Given the description of an element on the screen output the (x, y) to click on. 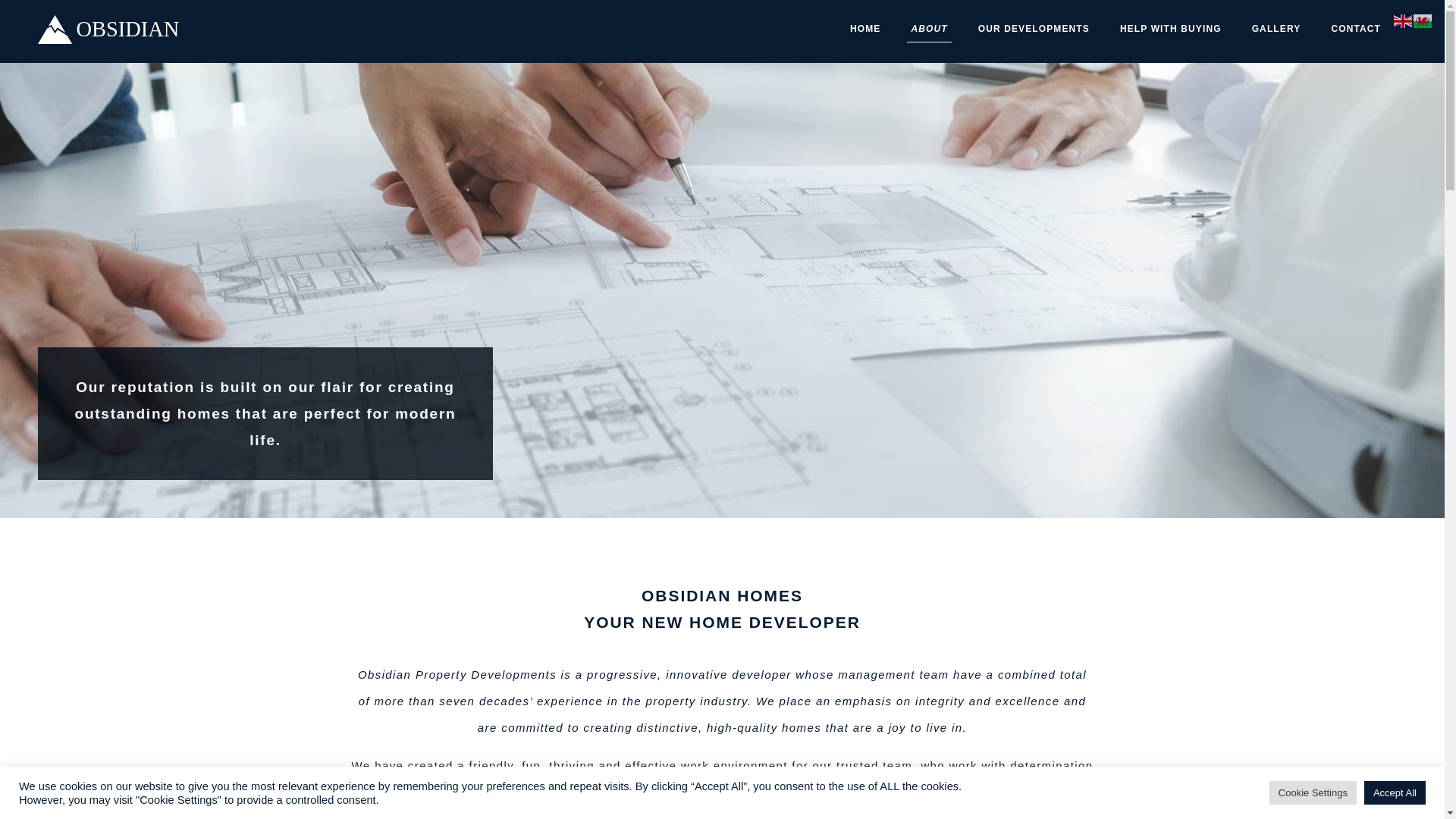
HOME (864, 28)
HELP WITH BUYING (1170, 28)
Accept All (1394, 792)
Welsh (1422, 19)
CONTACT (1355, 28)
English (1403, 19)
Cookie Settings (1312, 792)
OUR DEVELOPMENTS (1033, 28)
GALLERY (1275, 28)
ABOUT (928, 28)
